Given the description of an element on the screen output the (x, y) to click on. 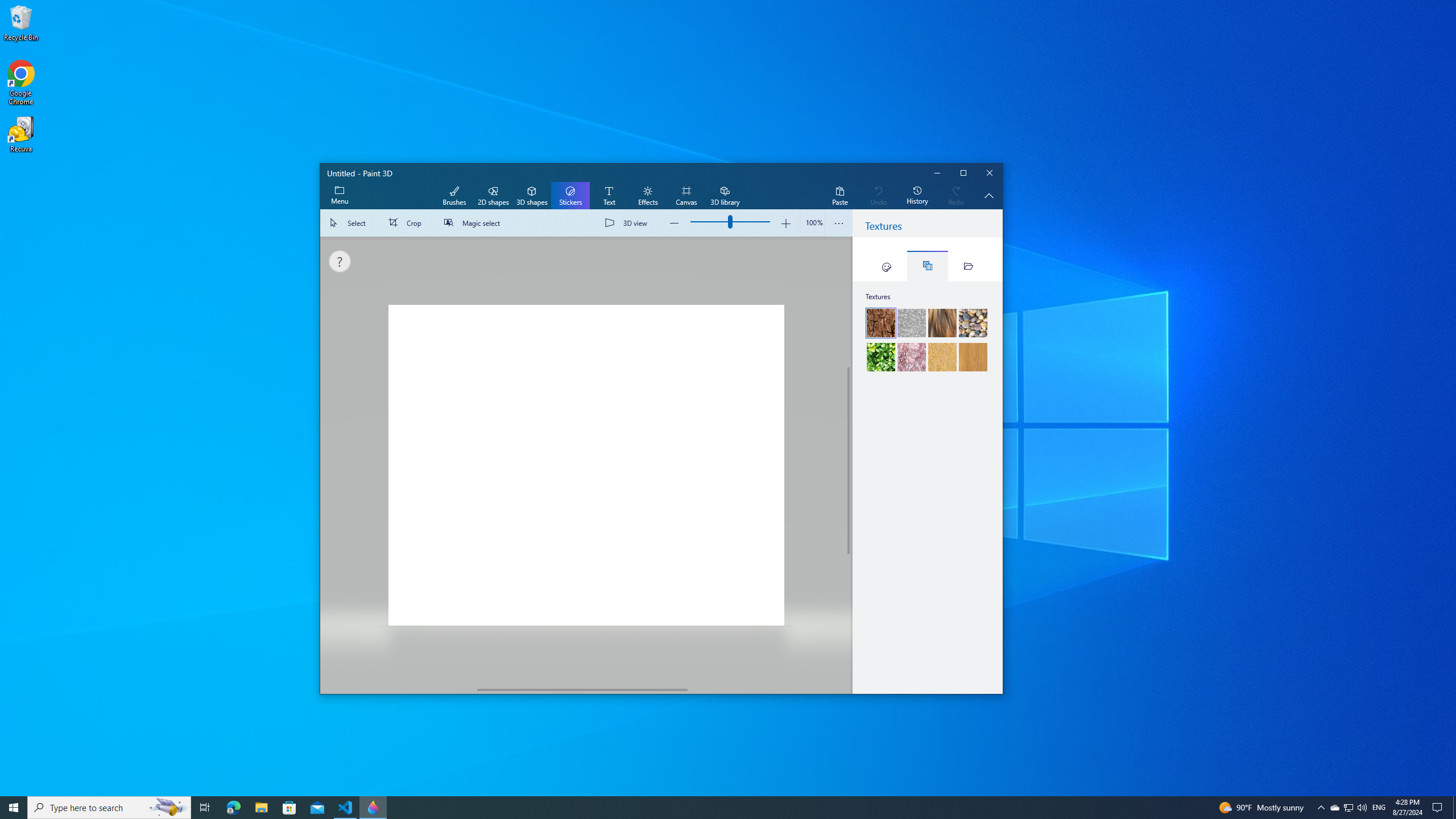
Expand menu (339, 195)
Effects (647, 195)
Horizontal (582, 689)
Vertical Large Increase (848, 619)
